Given the description of an element on the screen output the (x, y) to click on. 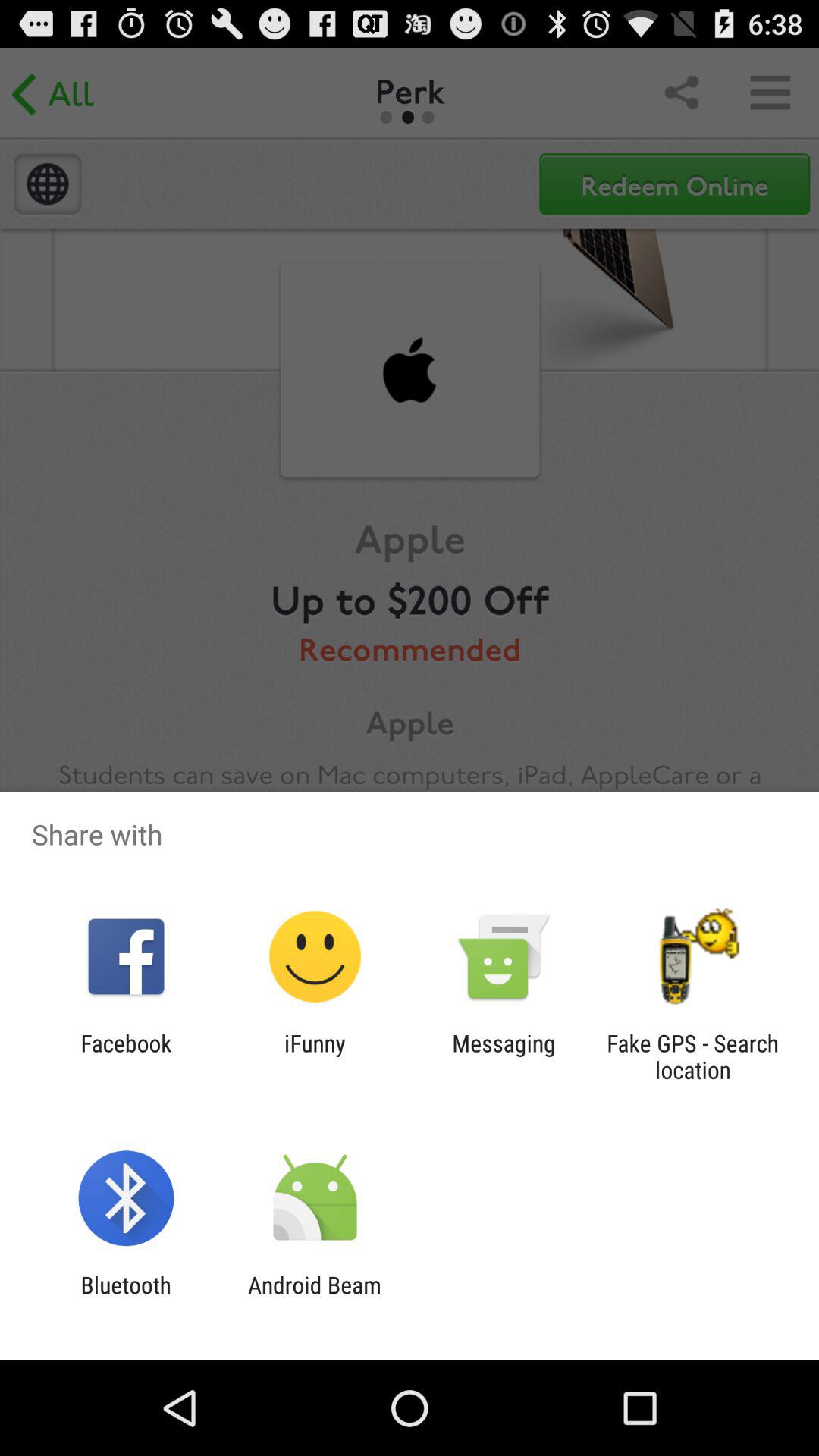
flip until android beam app (314, 1298)
